Given the description of an element on the screen output the (x, y) to click on. 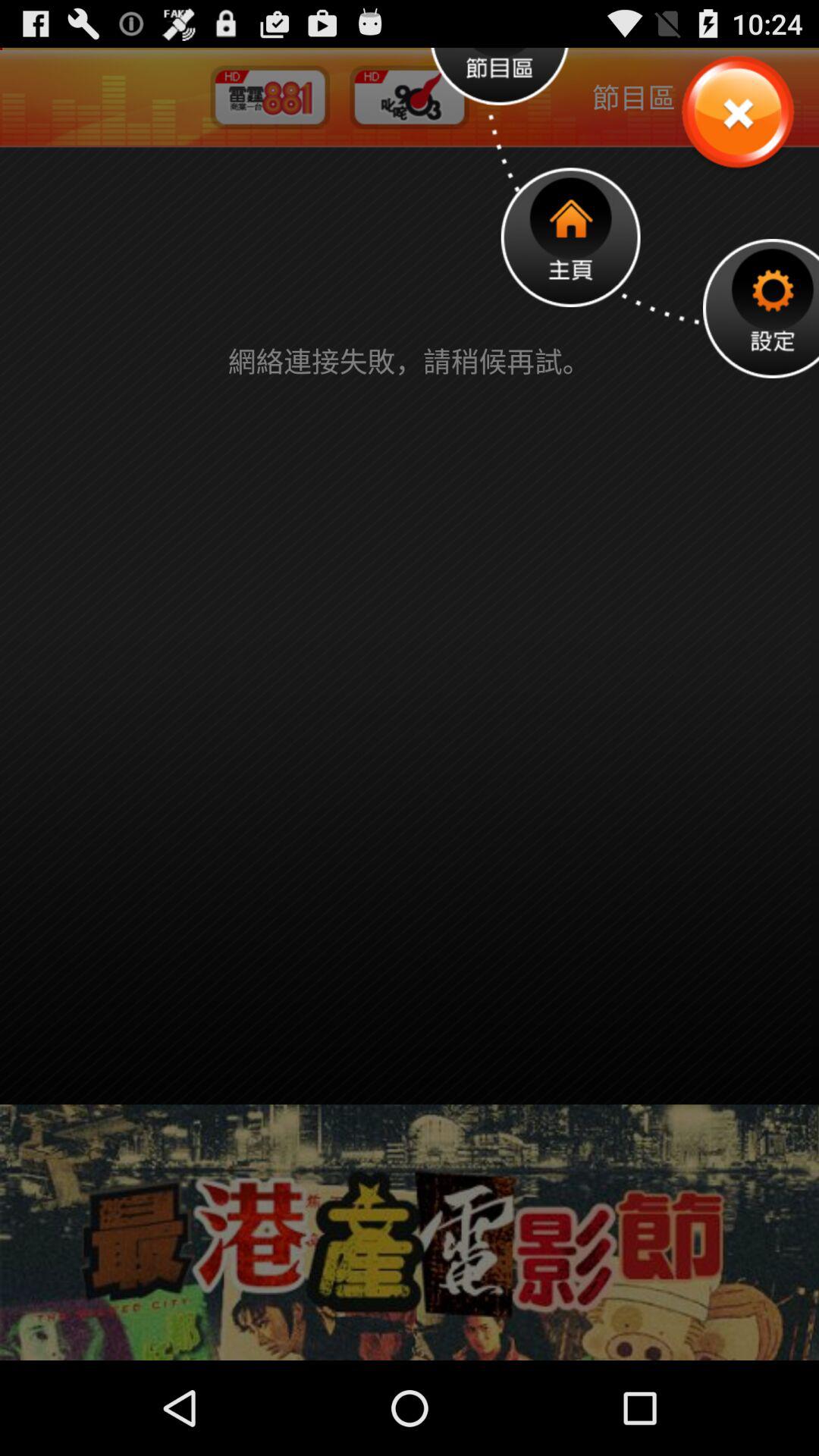
options menu (760, 308)
